Given the description of an element on the screen output the (x, y) to click on. 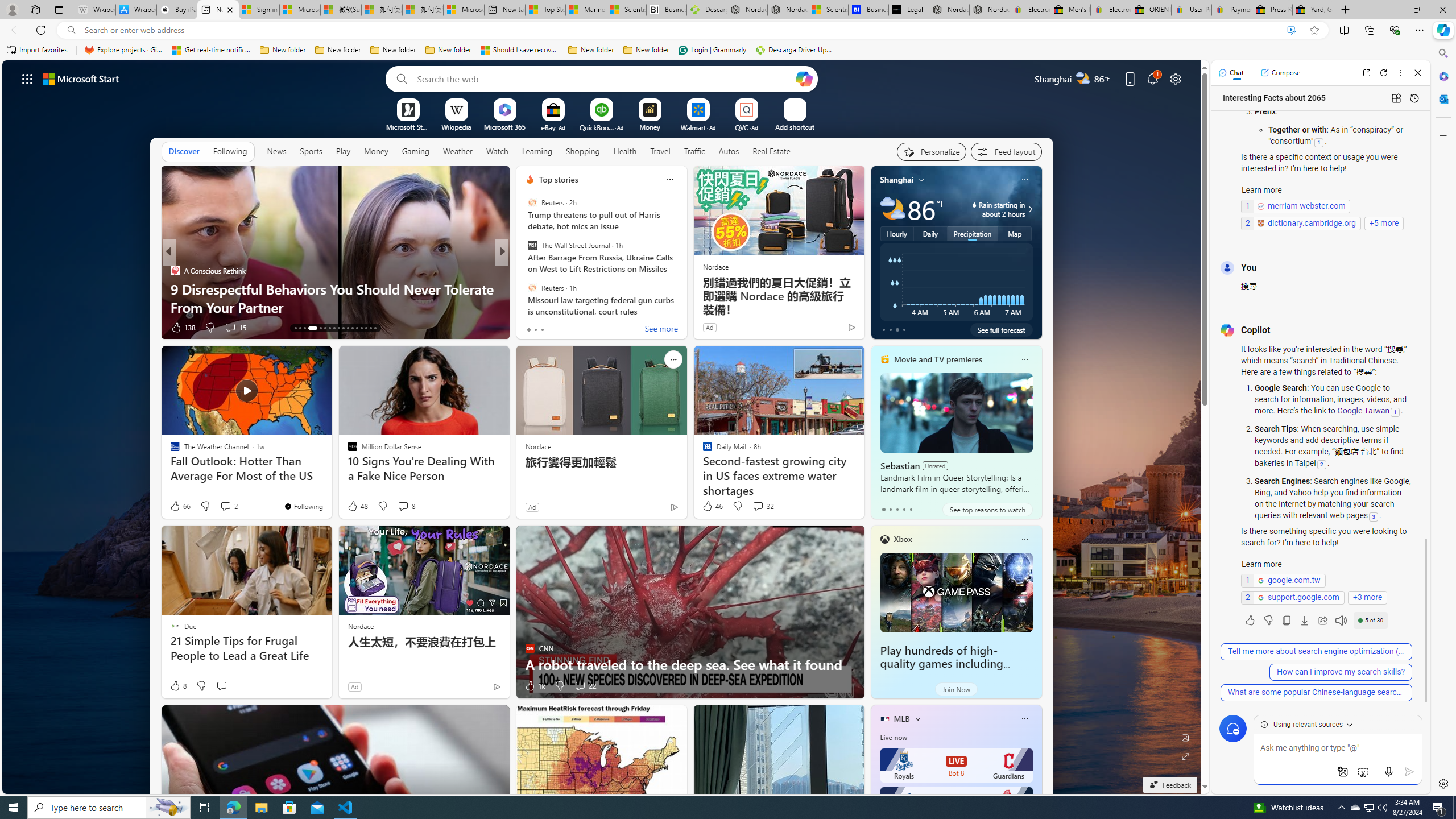
Map (1015, 233)
The Weather Channel (524, 270)
AutomationID: tab-19 (329, 328)
Compose (1280, 72)
MLB (901, 718)
Learn both Singing & Healing (684, 307)
View comments 2 Comment (225, 505)
